Given the description of an element on the screen output the (x, y) to click on. 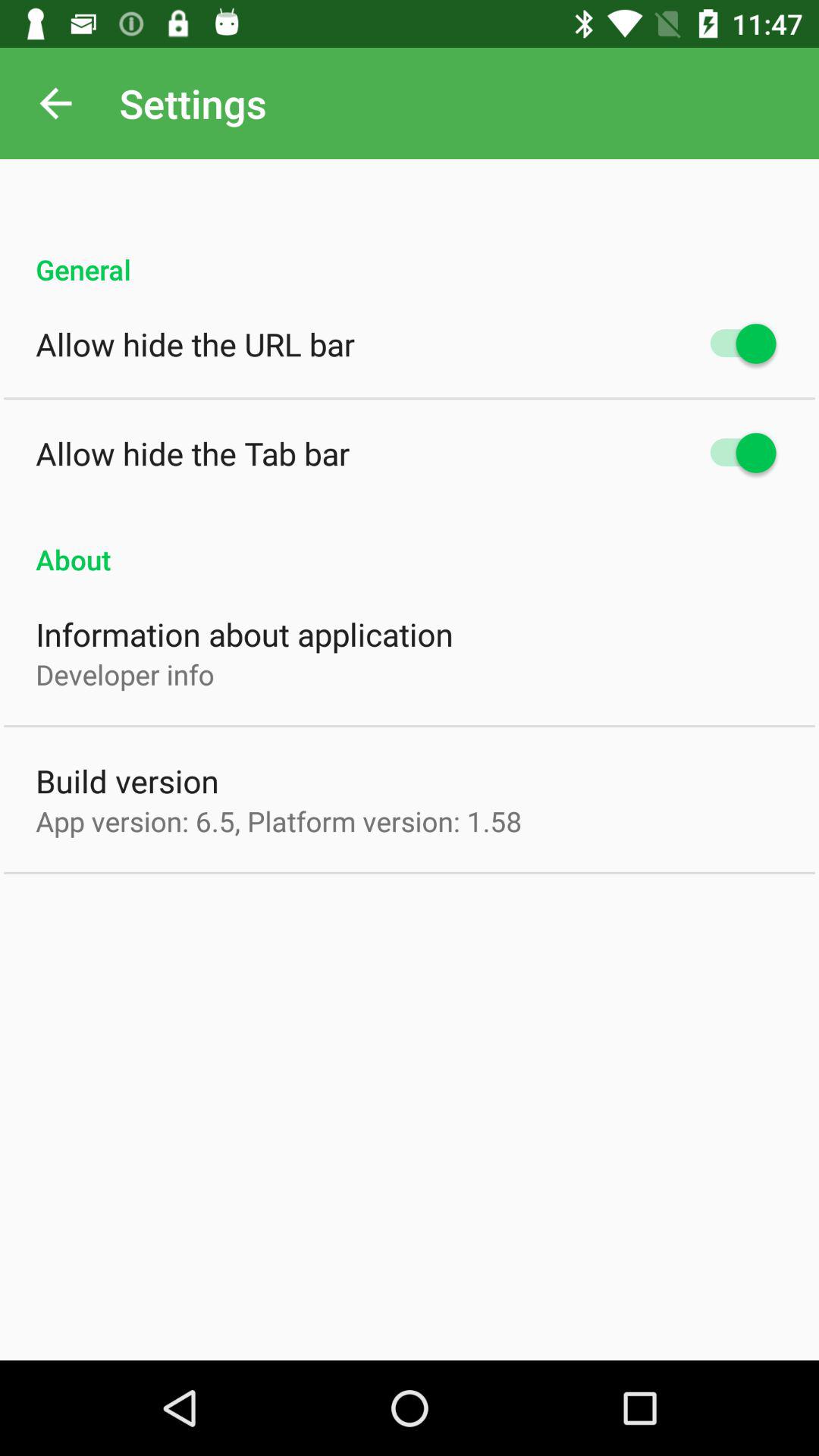
open the build version icon (126, 780)
